Given the description of an element on the screen output the (x, y) to click on. 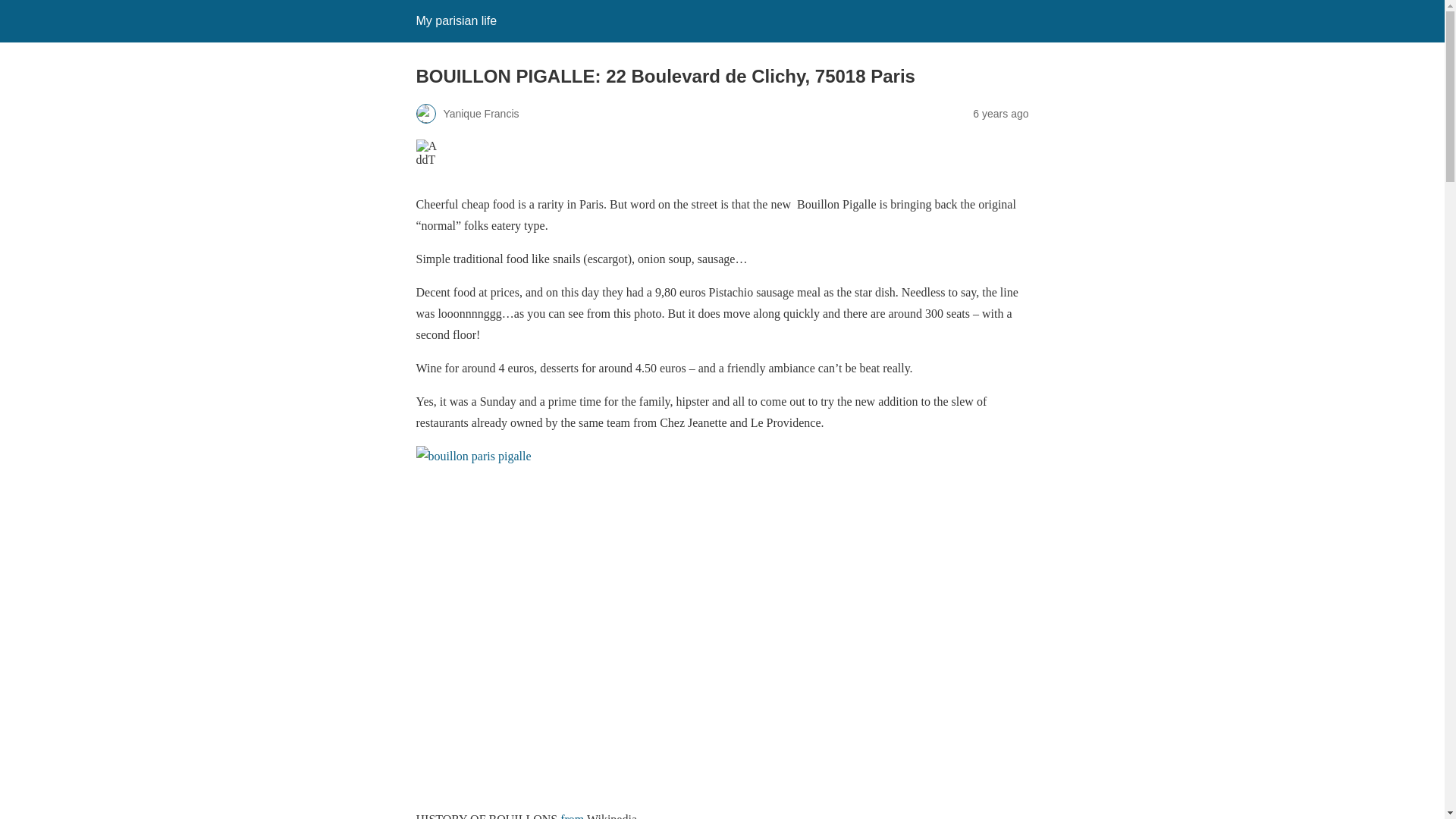
from (573, 816)
My parisian life (455, 20)
AddThis Website Tools (596, 163)
